Given the description of an element on the screen output the (x, y) to click on. 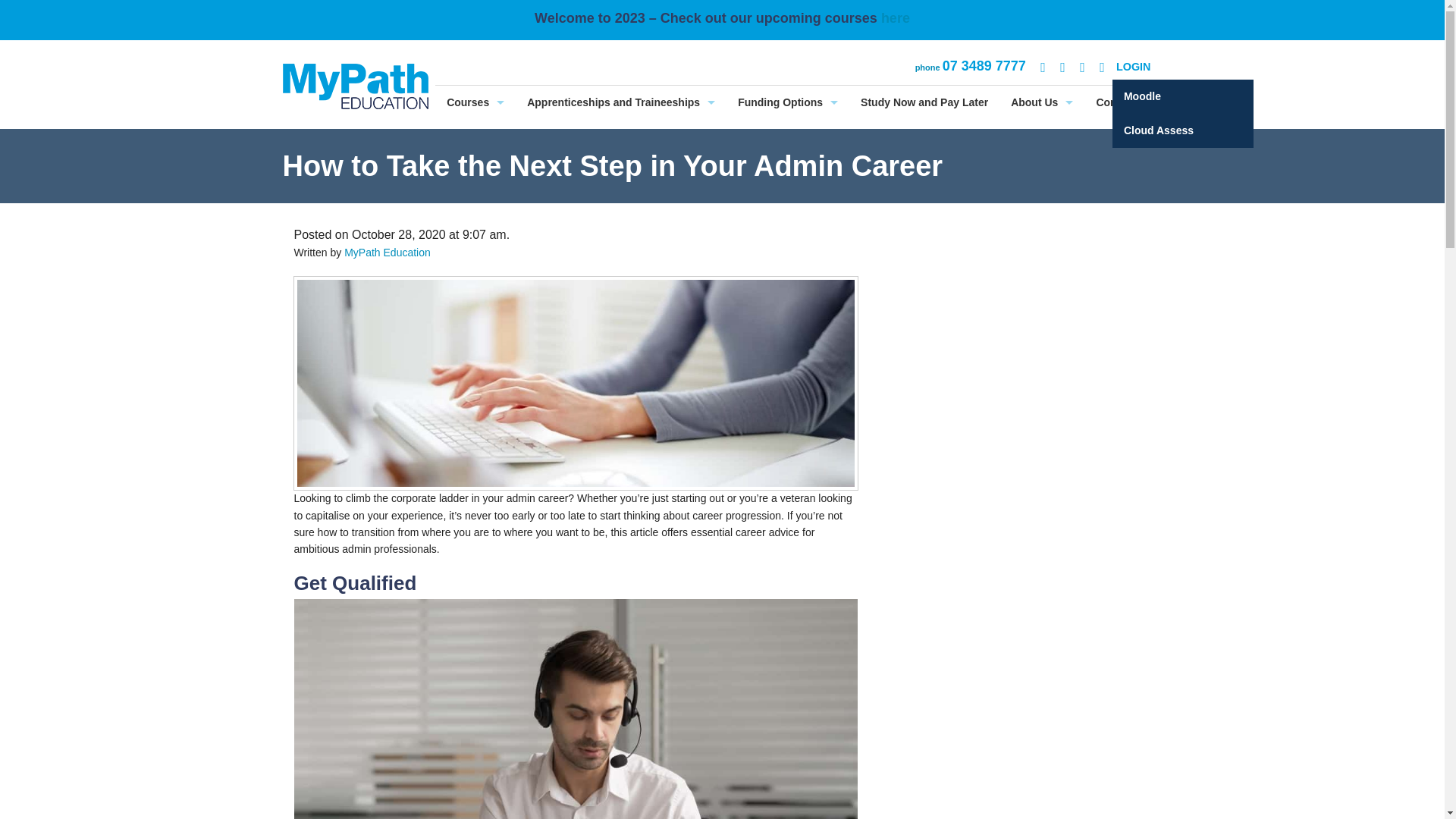
here (895, 17)
Cloud Assess (1182, 130)
Moodle (1182, 96)
phone 07 3489 7777 (970, 65)
